Given the description of an element on the screen output the (x, y) to click on. 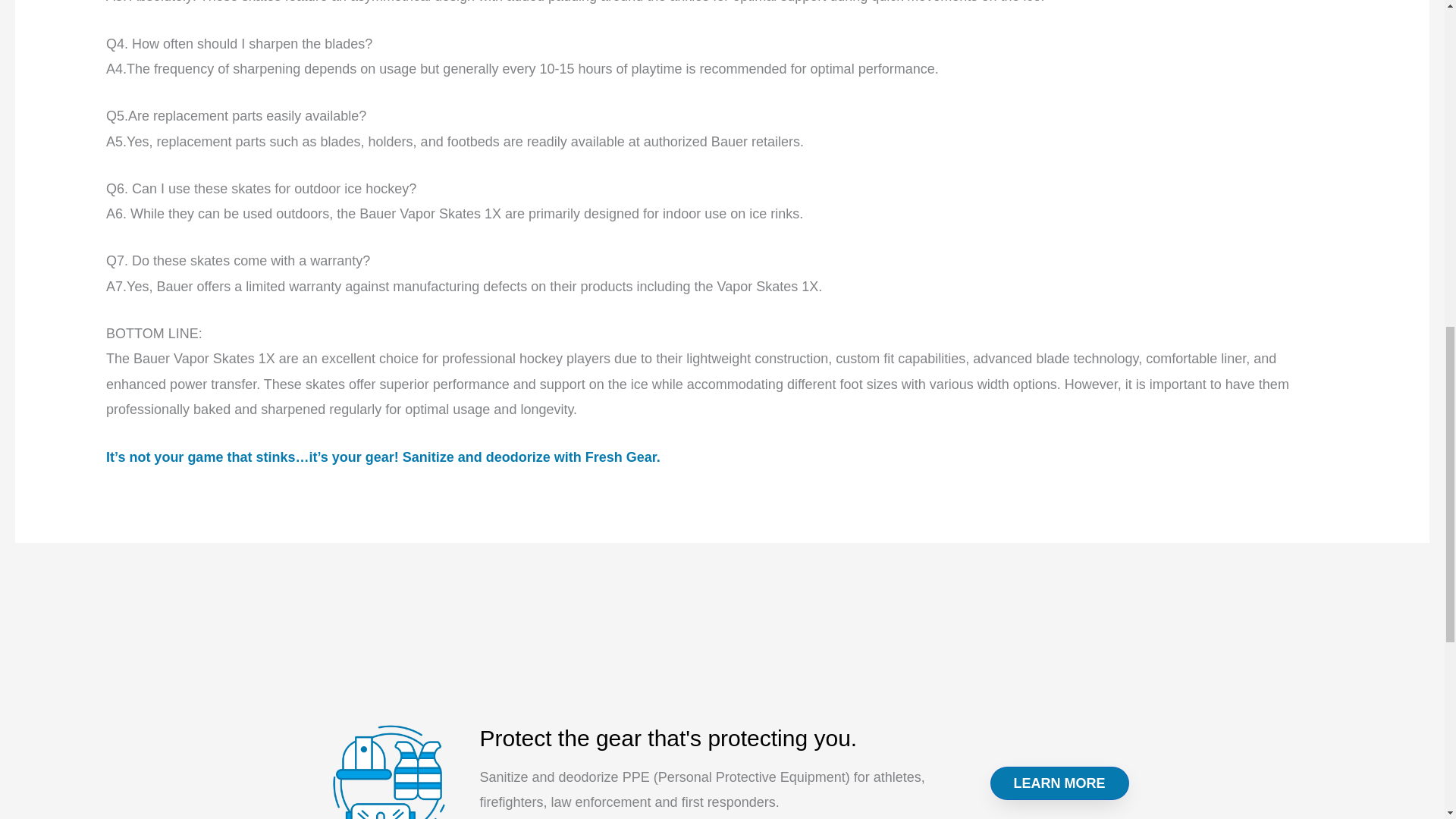
LEARN MORE (1059, 783)
